Given the description of an element on the screen output the (x, y) to click on. 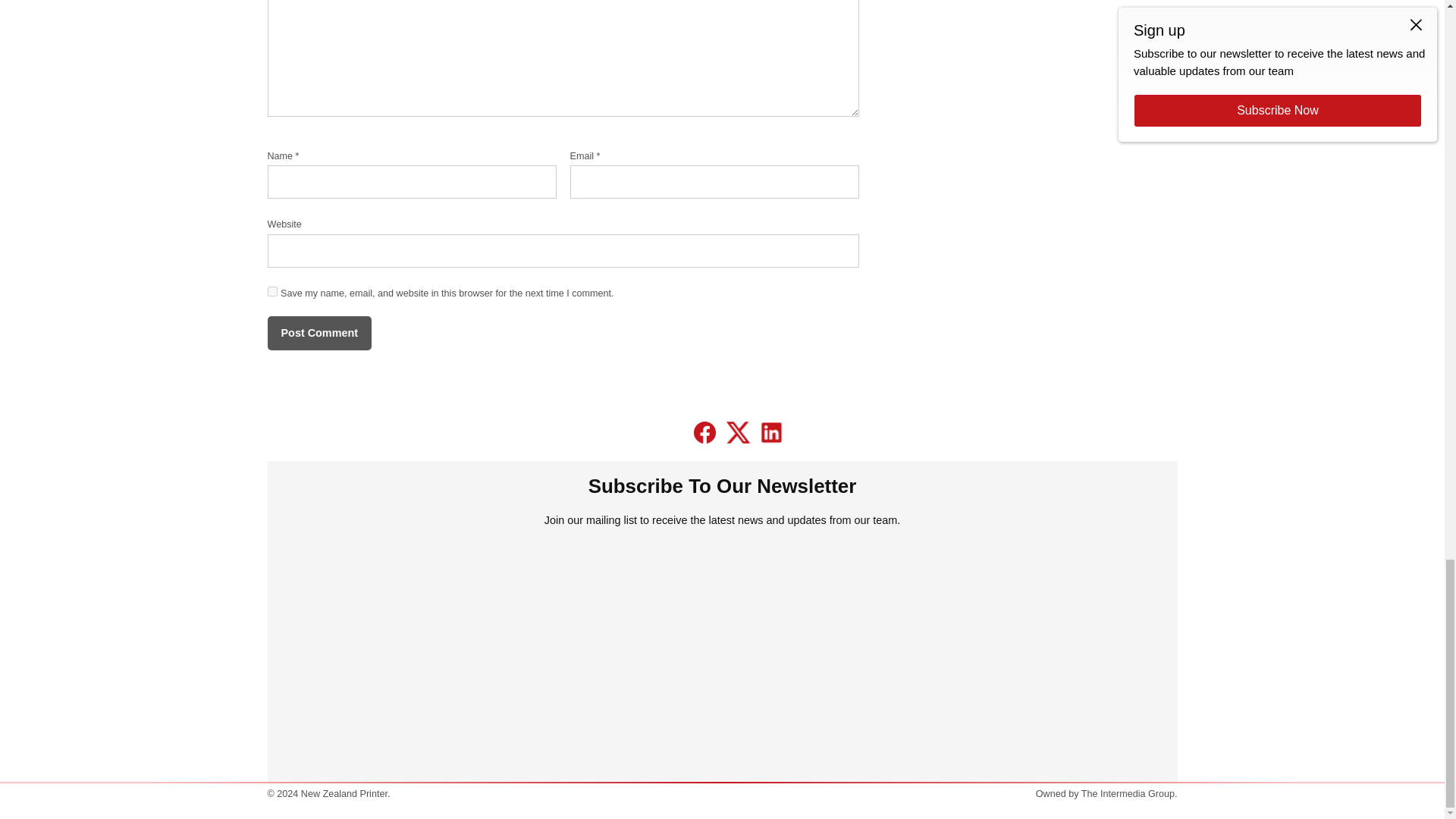
Post Comment (318, 333)
yes (271, 291)
Post Comment (318, 333)
